Given the description of an element on the screen output the (x, y) to click on. 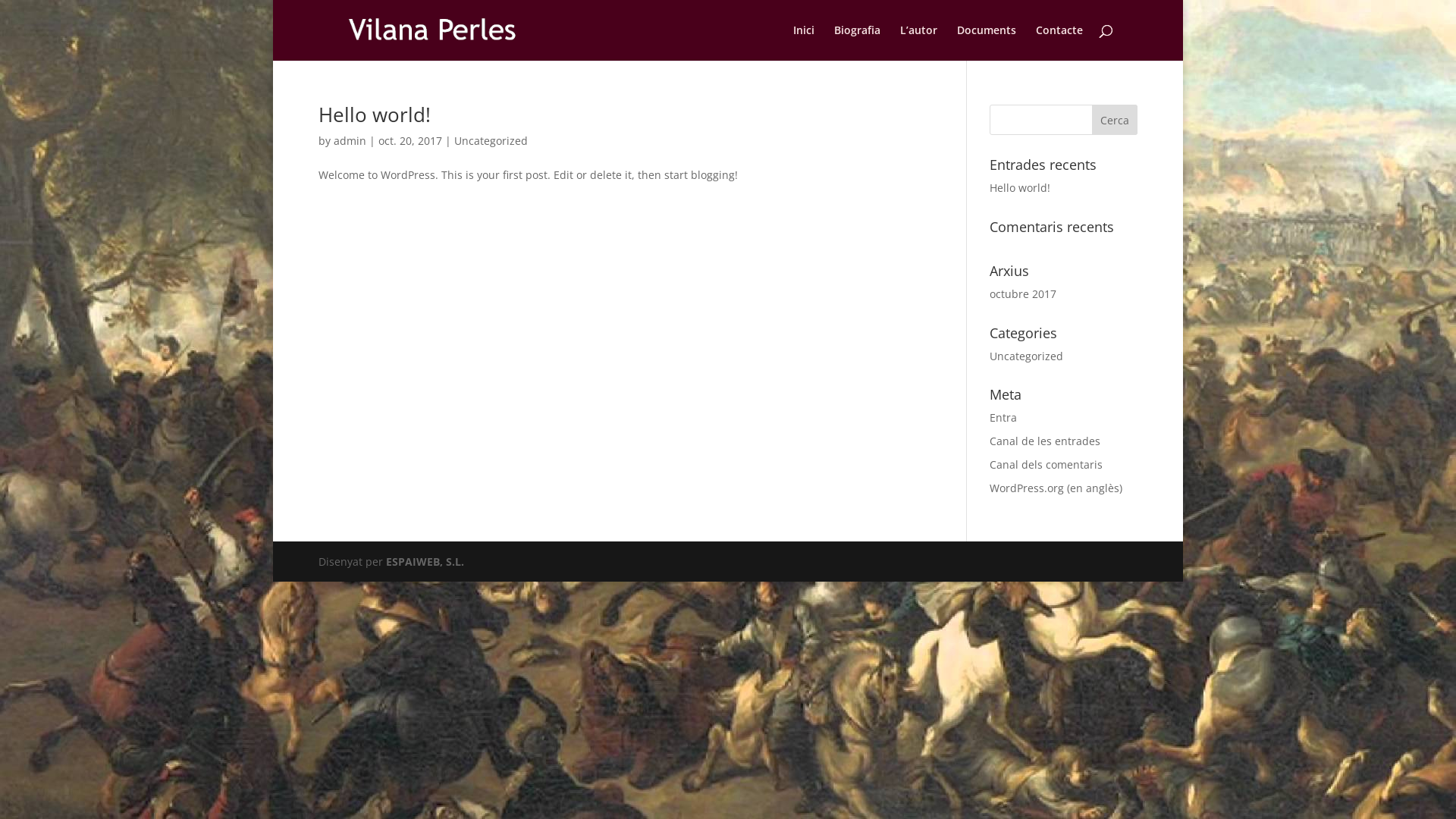
Canal de les entrades Element type: text (1044, 440)
Canal dels comentaris Element type: text (1045, 464)
octubre 2017 Element type: text (1022, 293)
Cerca Element type: text (1114, 119)
Uncategorized Element type: text (490, 140)
Biografia Element type: text (857, 42)
Contacte Element type: text (1058, 42)
Hello world! Element type: text (1019, 187)
Uncategorized Element type: text (1026, 355)
Entra Element type: text (1002, 417)
Hello world! Element type: text (374, 114)
admin Element type: text (349, 140)
ESPAIWEB, S.L. Element type: text (424, 561)
Documents Element type: text (986, 42)
Inici Element type: text (803, 42)
